Given the description of an element on the screen output the (x, y) to click on. 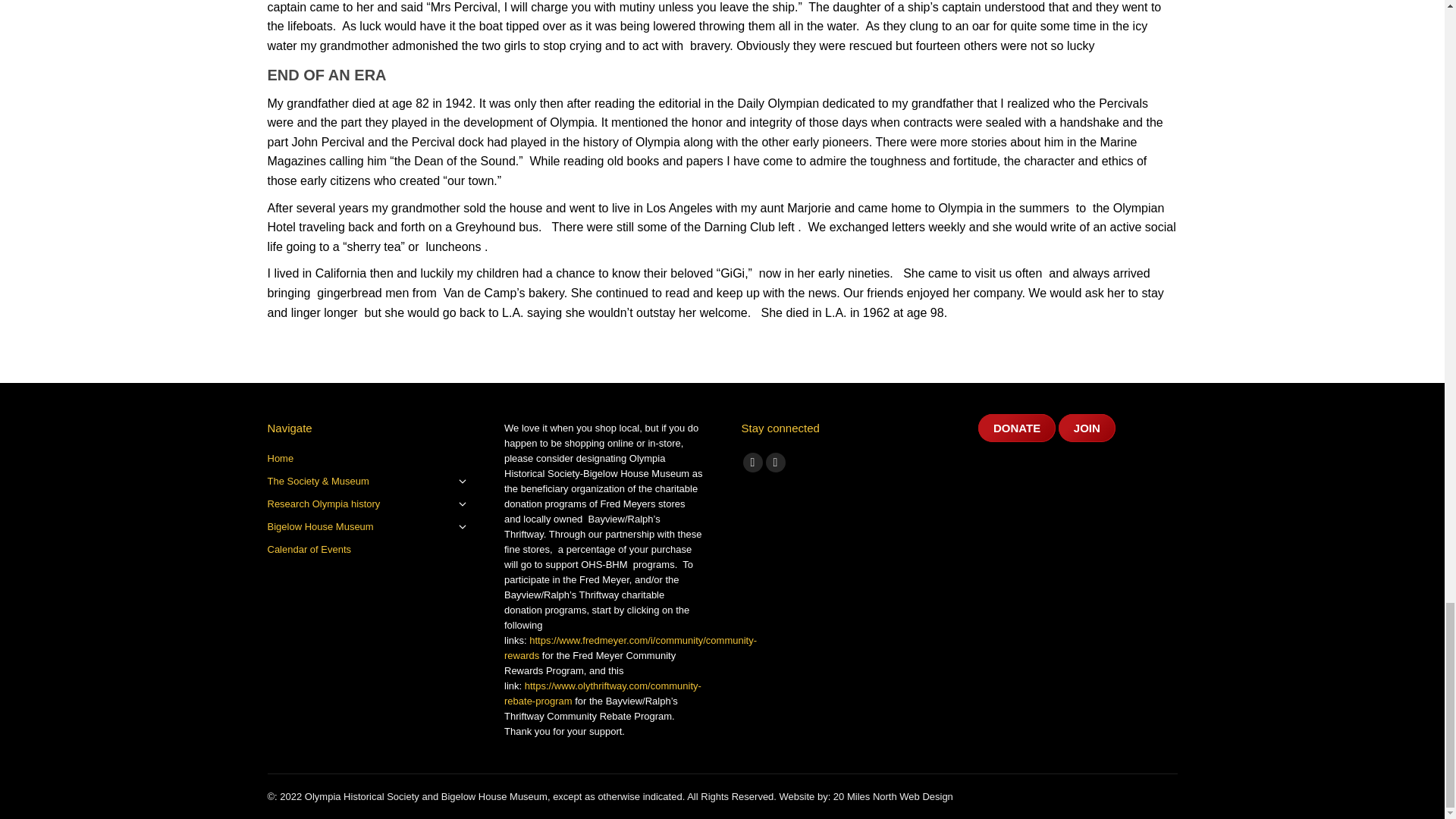
Facebook page opens in new window (752, 462)
X page opens in new window (775, 462)
